Given the description of an element on the screen output the (x, y) to click on. 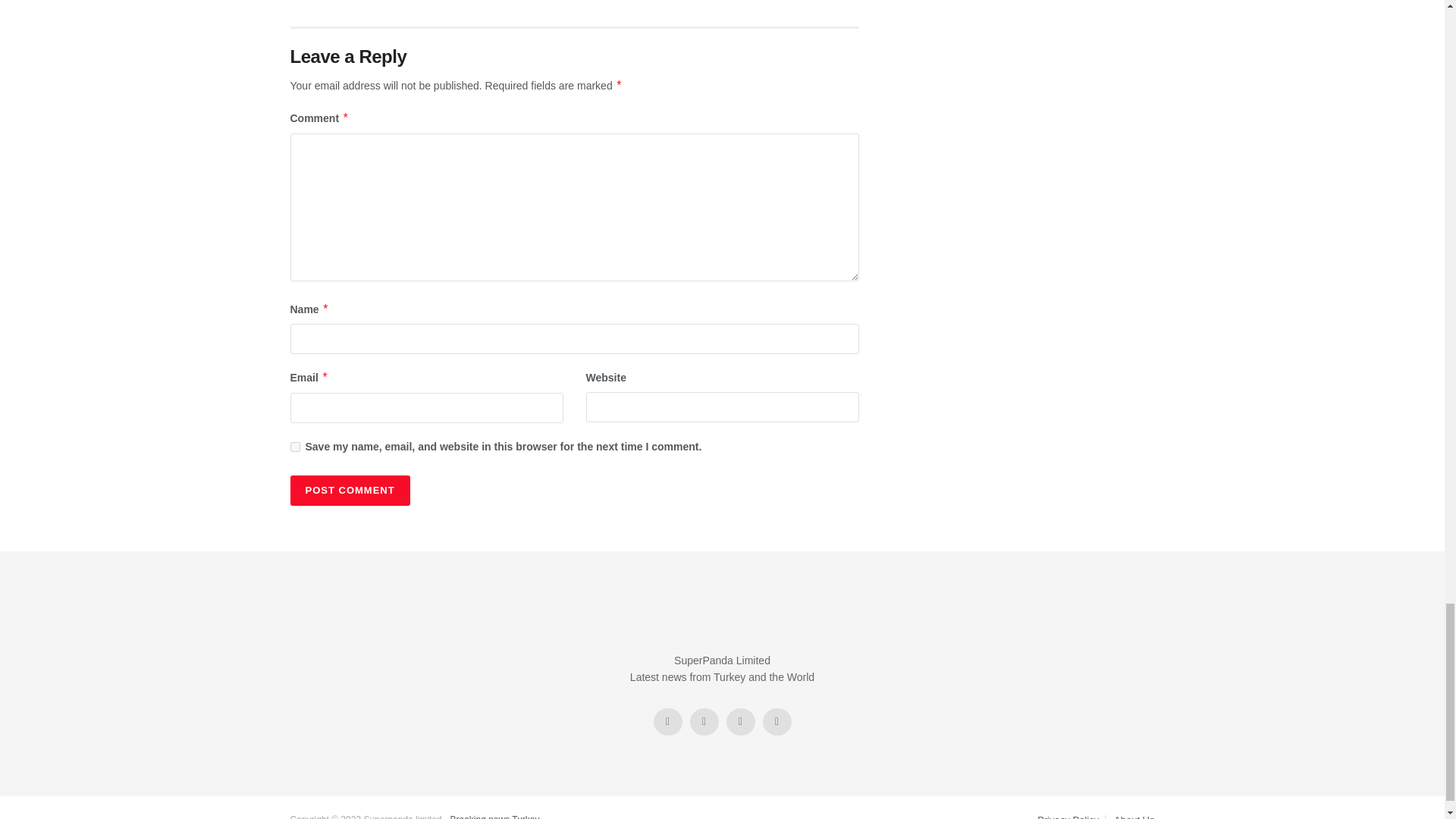
yes (294, 447)
Breaking news Turkey (493, 816)
Post Comment (349, 490)
